Given the description of an element on the screen output the (x, y) to click on. 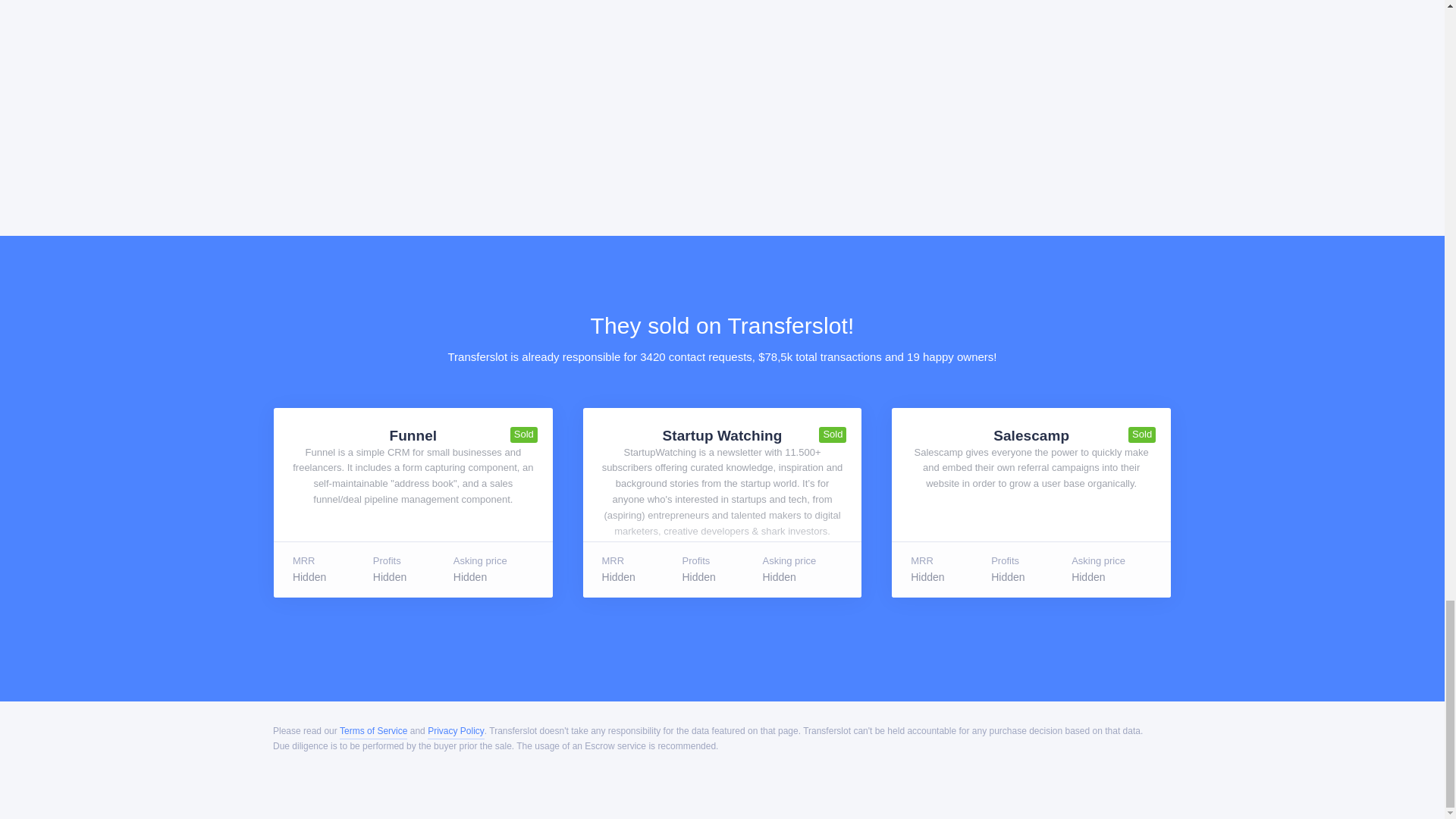
Terms of Service (373, 731)
Privacy Policy (456, 731)
Get new projects in your inbox (809, 87)
